Given the description of an element on the screen output the (x, y) to click on. 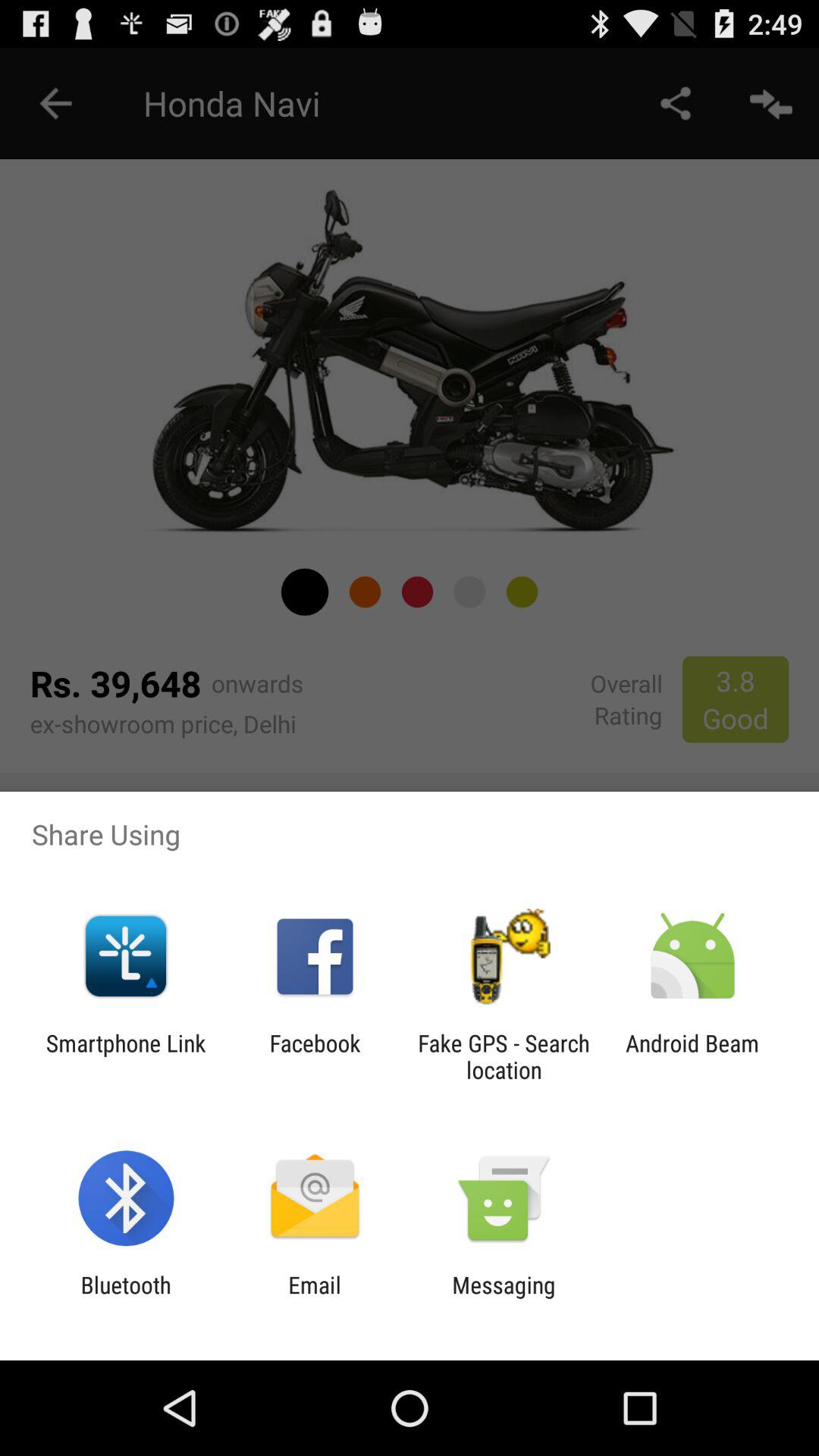
jump to messaging item (503, 1298)
